Given the description of an element on the screen output the (x, y) to click on. 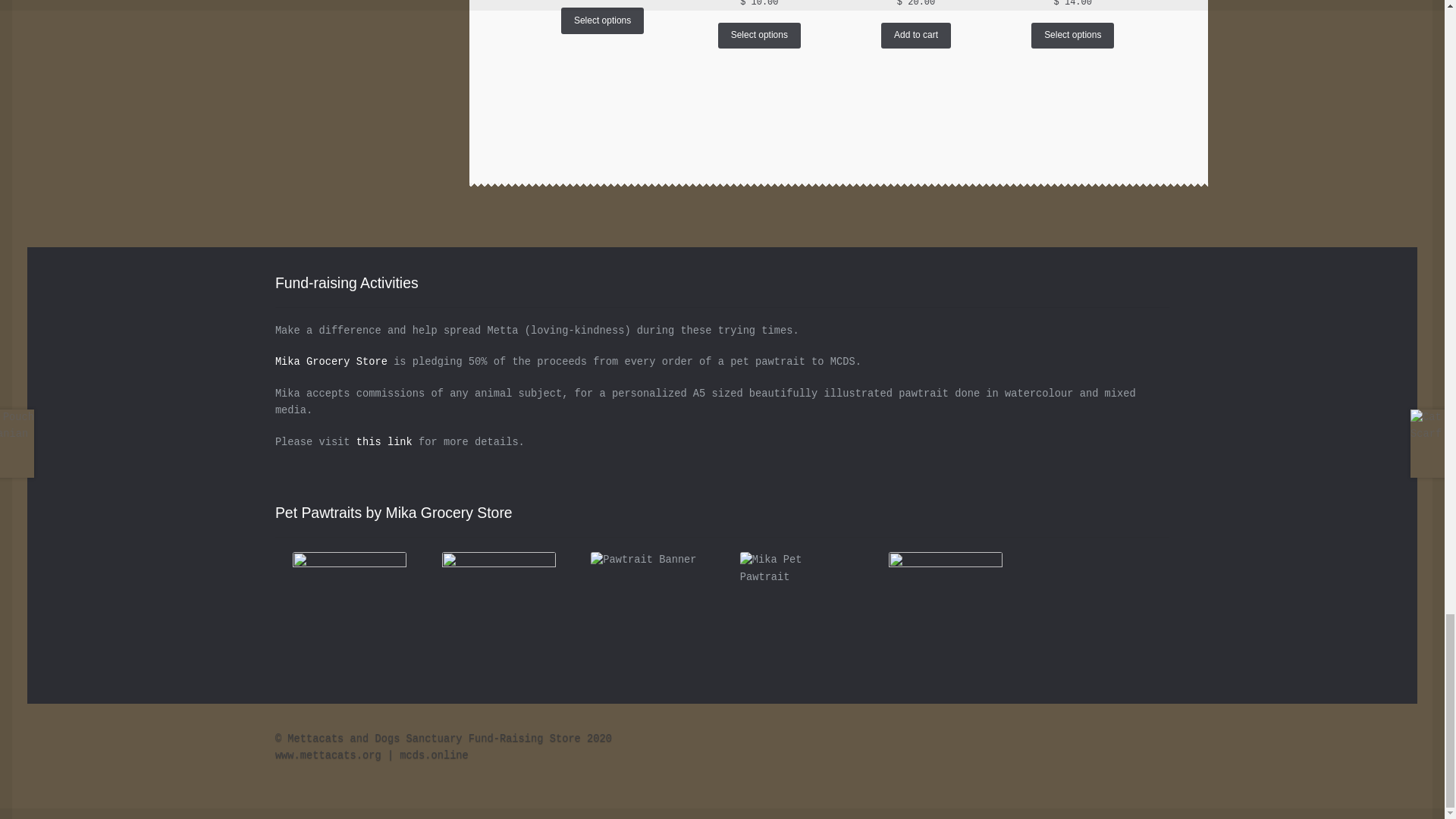
Select options (601, 20)
Select options (758, 35)
